Given the description of an element on the screen output the (x, y) to click on. 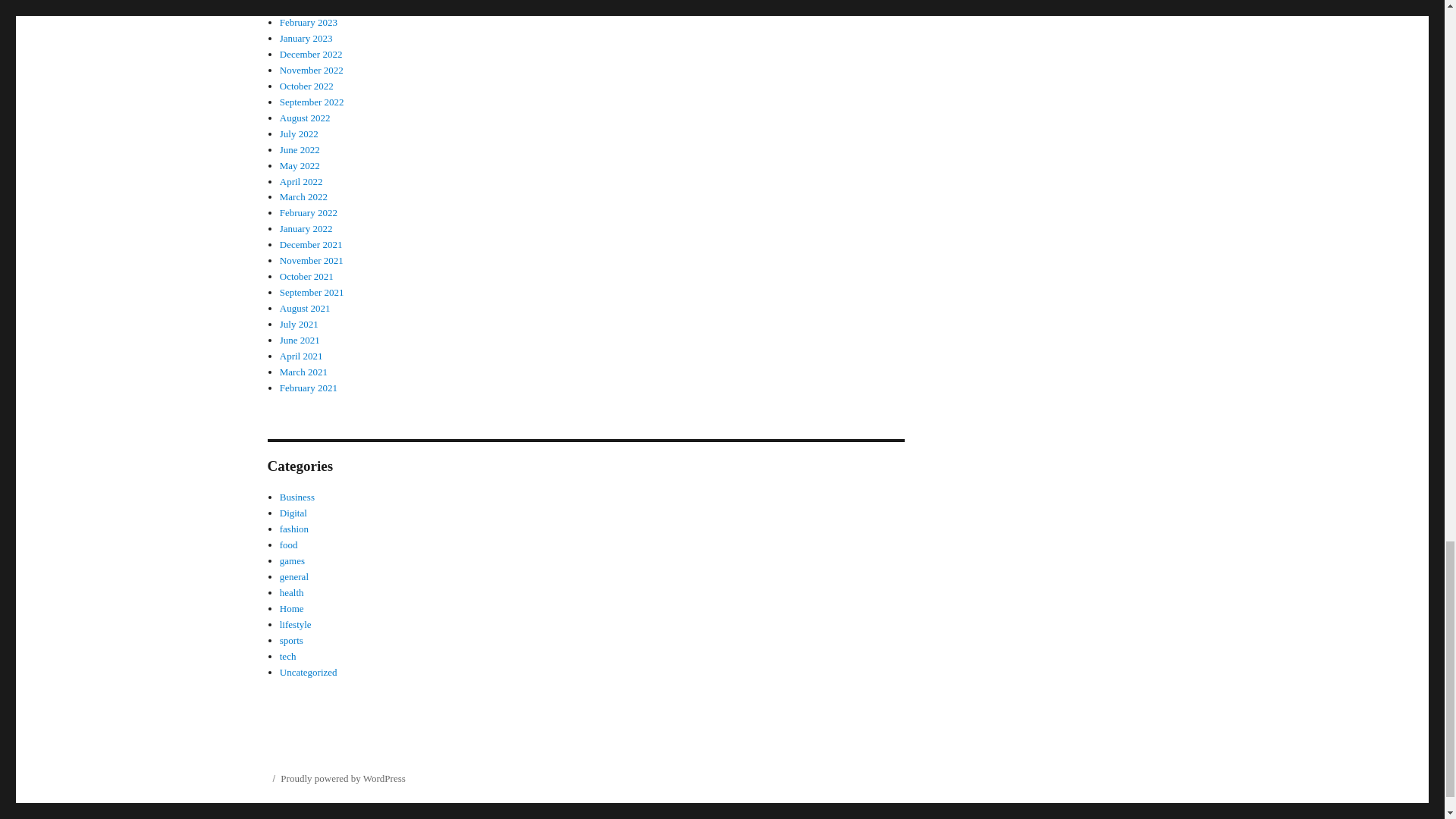
July 2022 (298, 133)
November 2022 (311, 70)
December 2022 (310, 53)
May 2022 (299, 165)
September 2022 (311, 101)
June 2022 (299, 149)
August 2022 (304, 117)
March 2023 (303, 6)
February 2023 (308, 21)
January 2023 (306, 38)
April 2022 (301, 180)
October 2022 (306, 85)
